Given the description of an element on the screen output the (x, y) to click on. 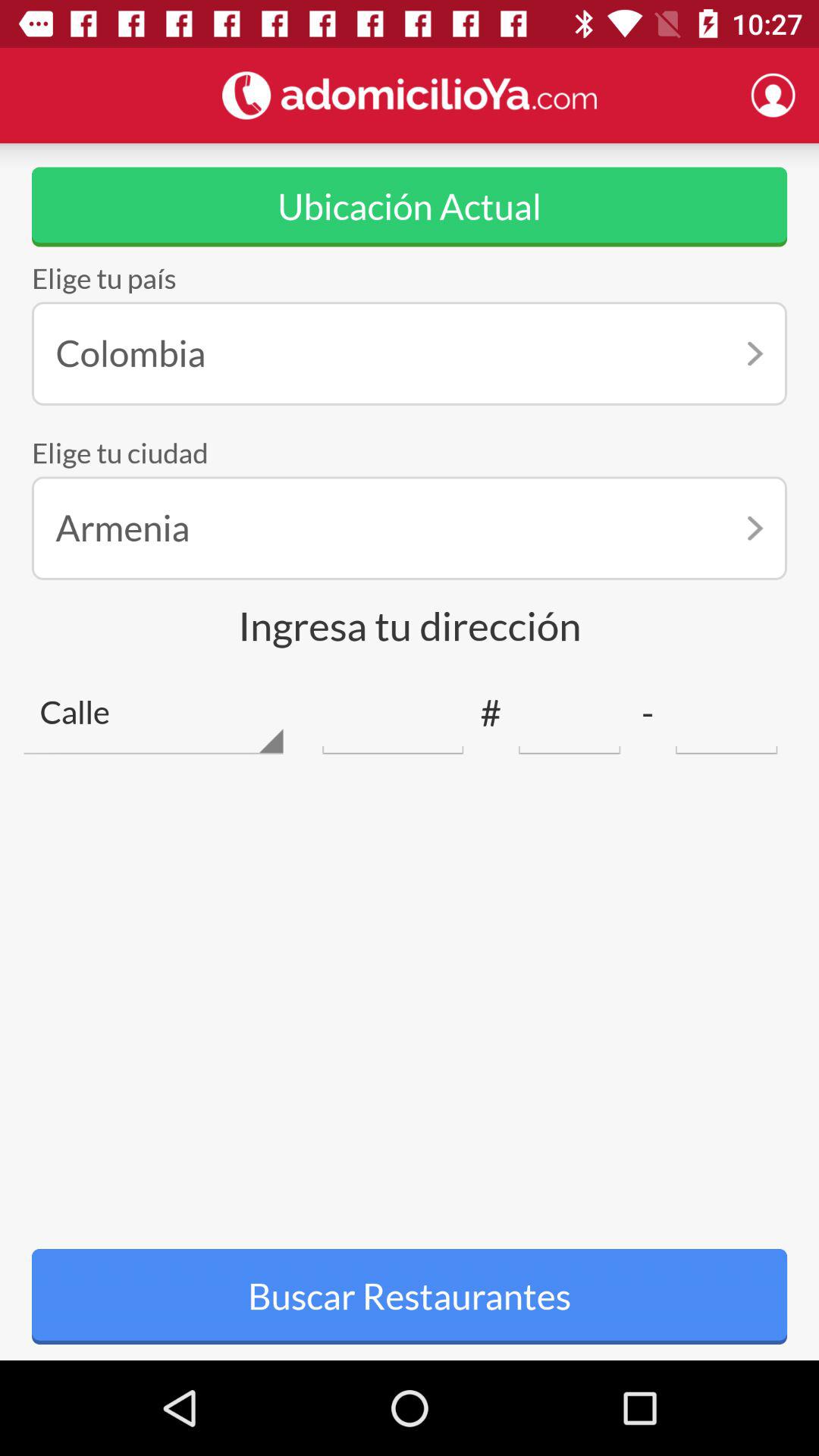
enter part of address (569, 713)
